Given the description of an element on the screen output the (x, y) to click on. 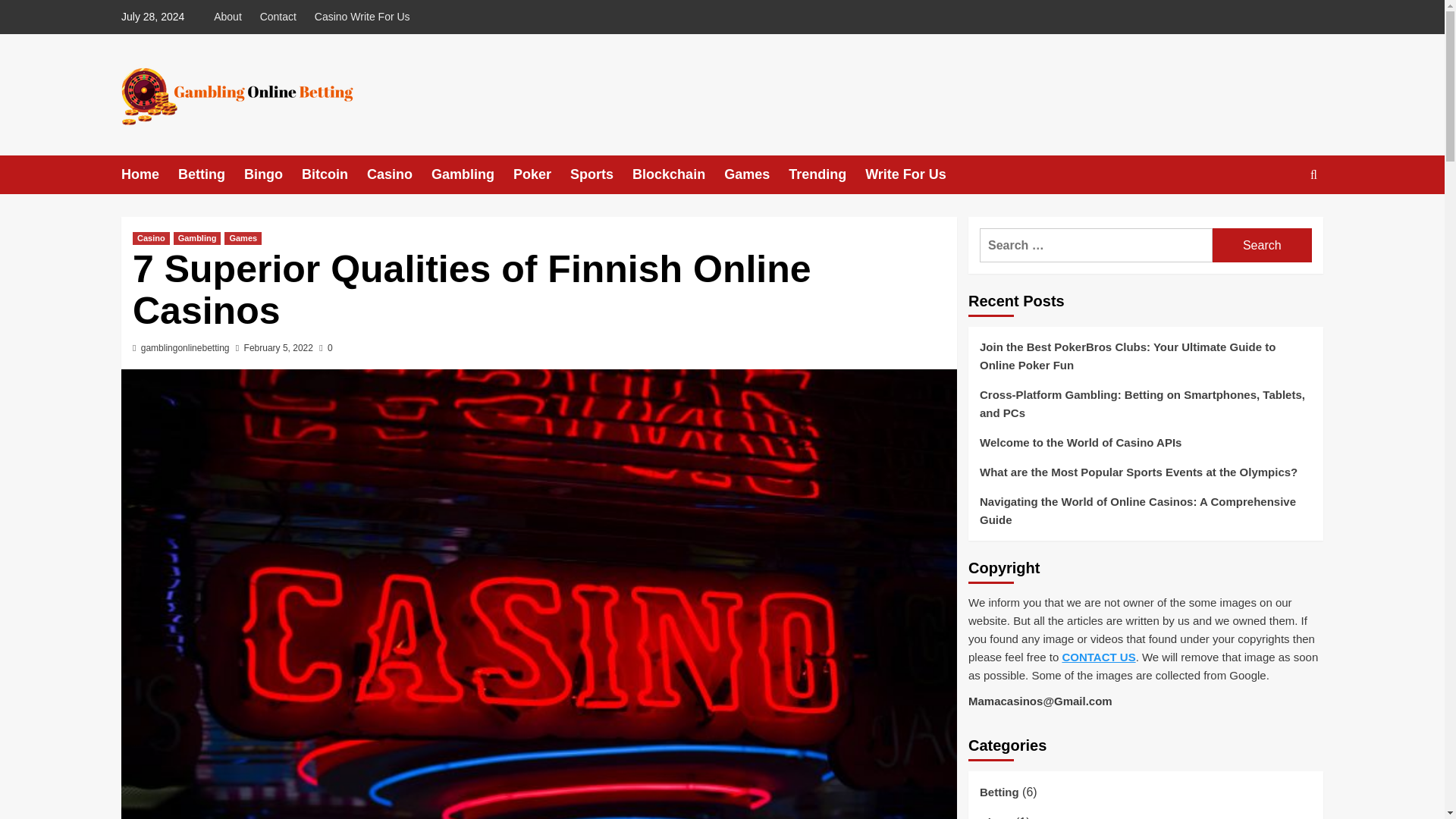
Betting (210, 174)
gamblingonlinebetting (185, 347)
Bitcoin (333, 174)
Casino (398, 174)
0 (324, 347)
Gambling (197, 237)
Casino (151, 237)
Bingo (272, 174)
Home (148, 174)
Search (1261, 245)
Sports (600, 174)
Write For Us (914, 174)
Games (243, 237)
Poker (541, 174)
Search (1261, 245)
